Given the description of an element on the screen output the (x, y) to click on. 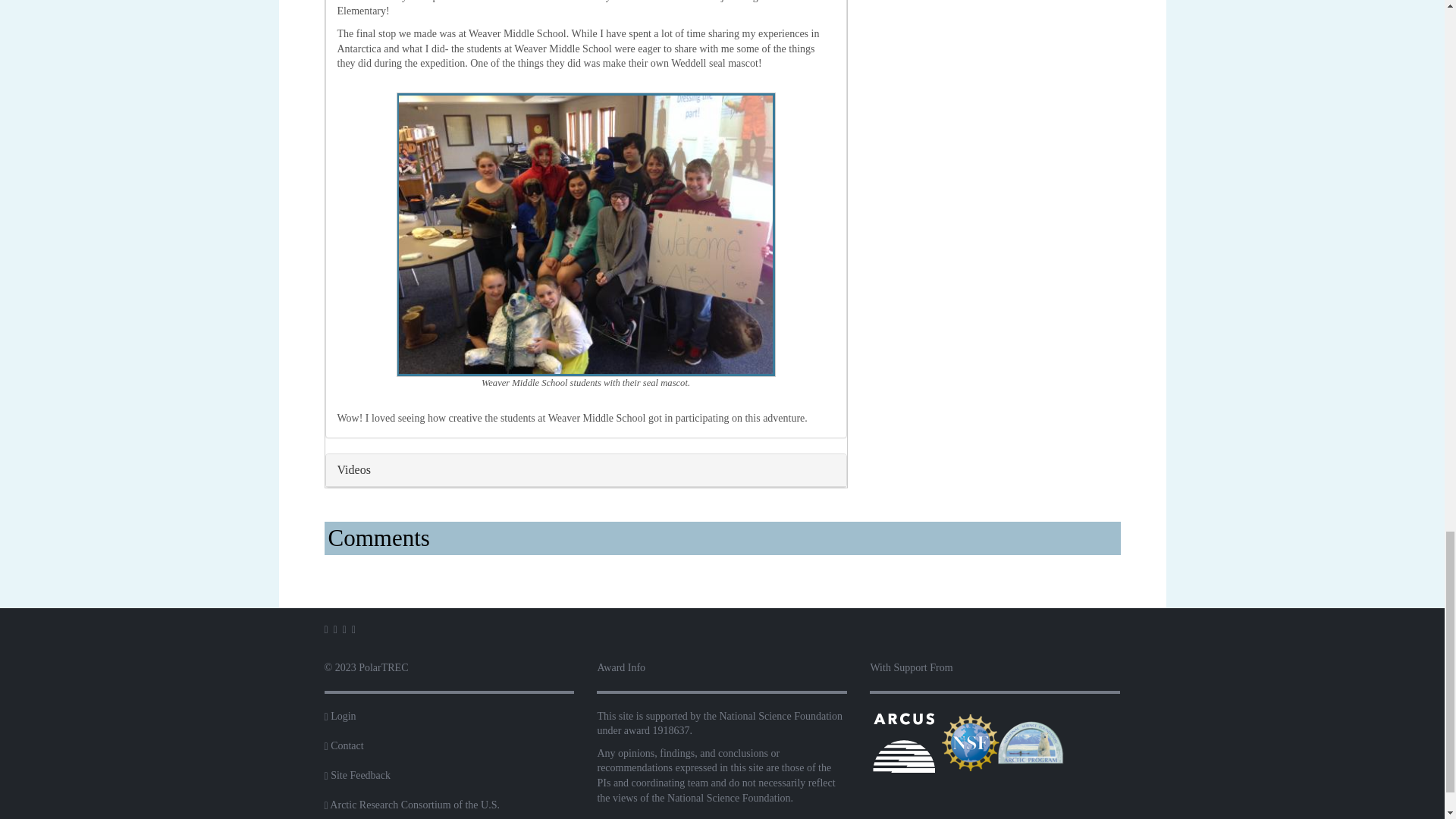
ARCUS (903, 741)
Weaver Middle School students with their seal mascot. (585, 234)
User Login (342, 715)
ARCUS (903, 743)
